Given the description of an element on the screen output the (x, y) to click on. 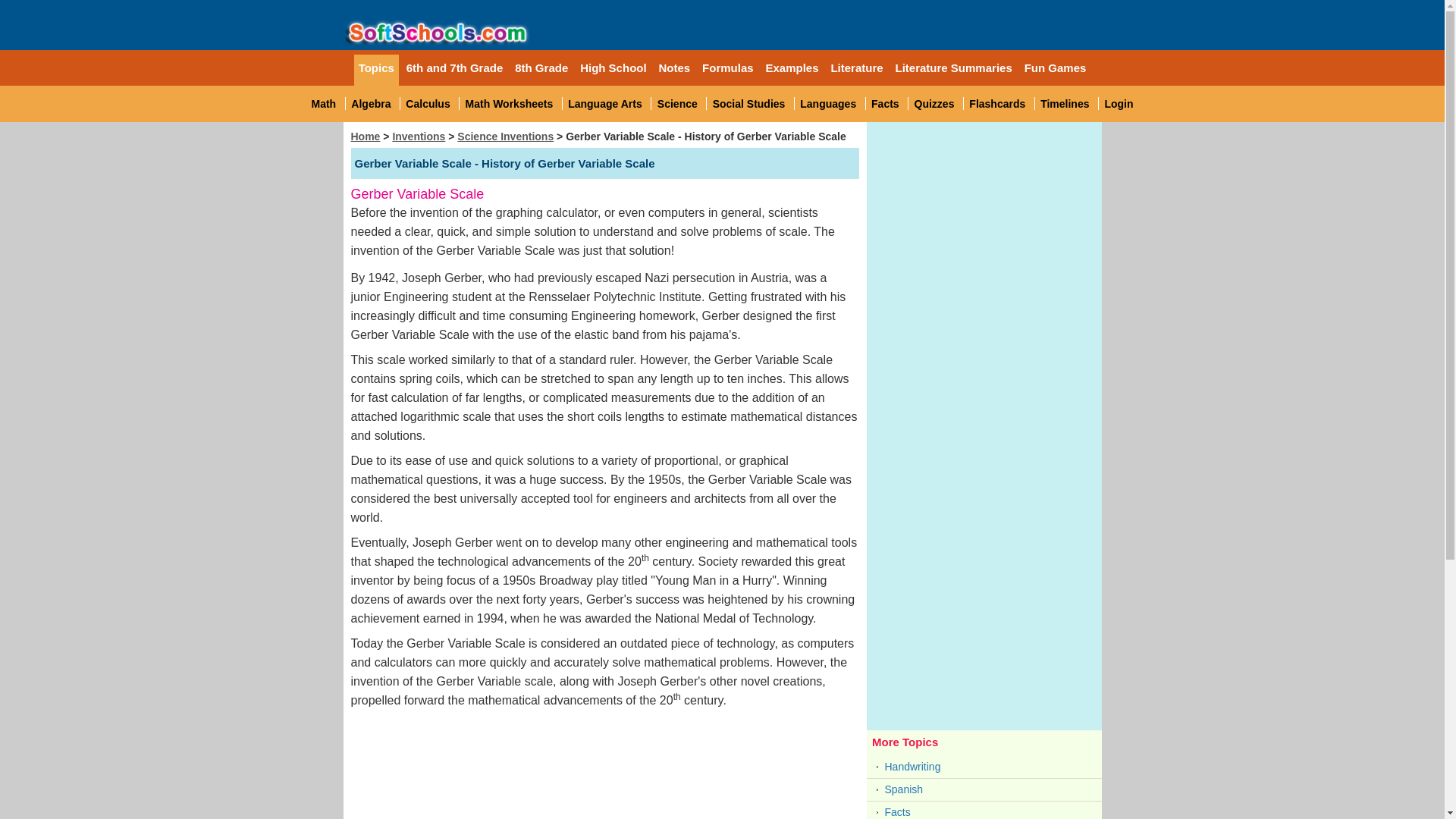
Free Math Games (370, 103)
Inventions (418, 136)
Handwriting (984, 766)
Flashcards (997, 103)
AP Subjects Notes (674, 67)
Languages (827, 103)
Timelines (1065, 103)
Notes (674, 67)
Math (323, 103)
Examples (792, 67)
Facts (984, 811)
Free Science Worksheets and Games (677, 103)
Flashcards (997, 103)
Literature and Science Examples (792, 67)
Algebra (427, 103)
